Given the description of an element on the screen output the (x, y) to click on. 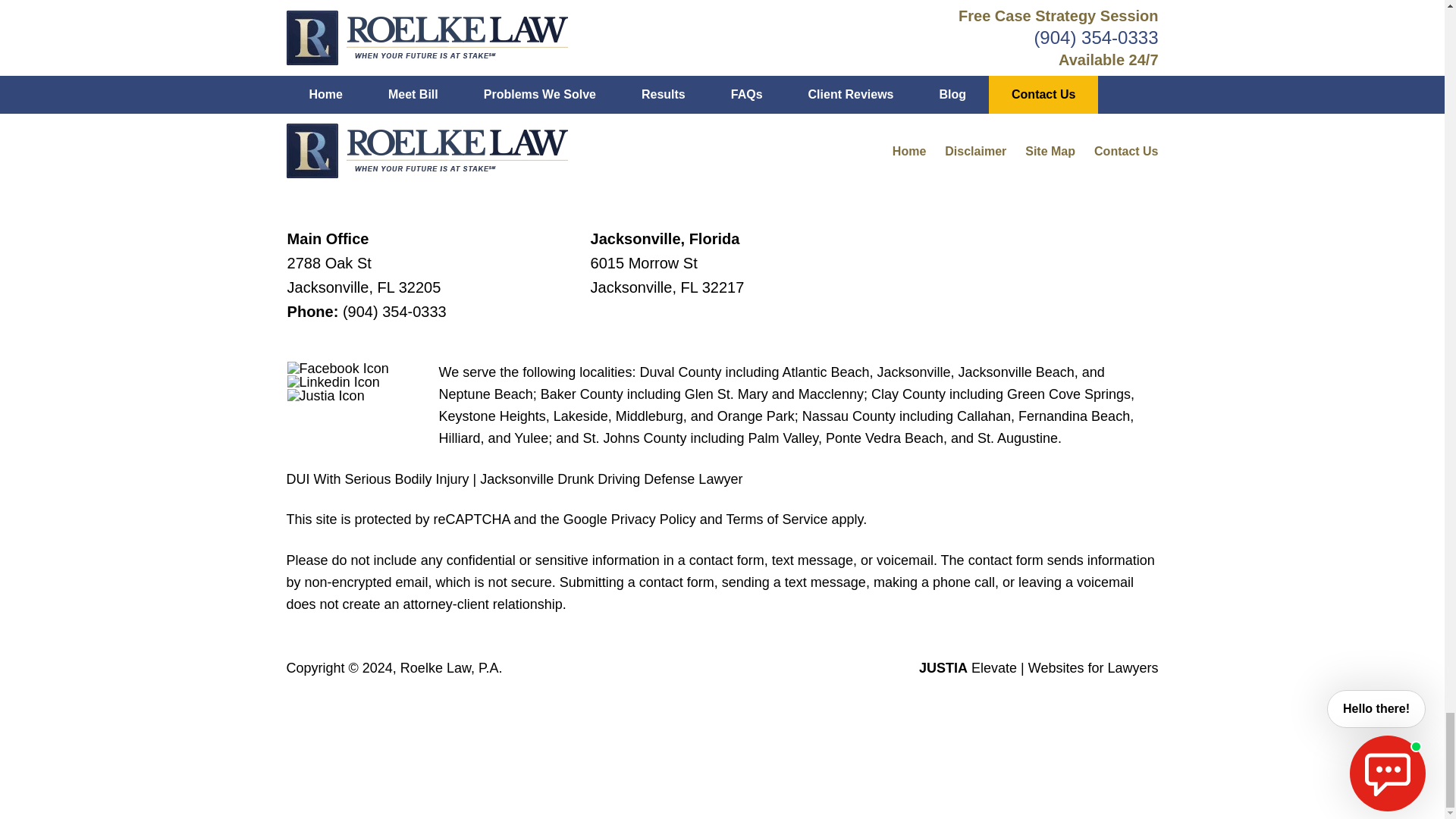
Facebook (337, 368)
Linkedin (333, 382)
Justia (325, 395)
